Given the description of an element on the screen output the (x, y) to click on. 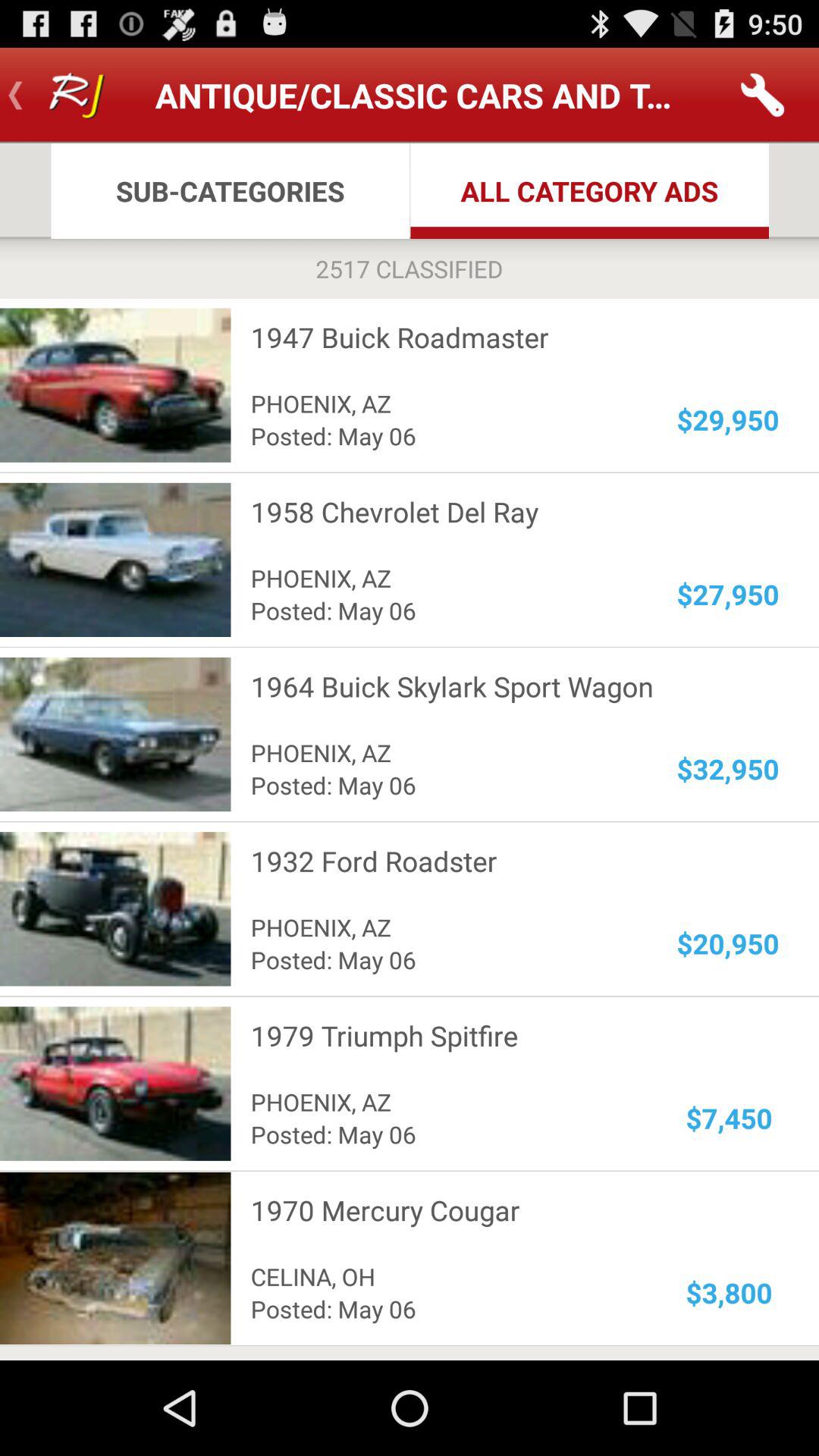
choose app above posted: may 06 app (444, 1276)
